Given the description of an element on the screen output the (x, y) to click on. 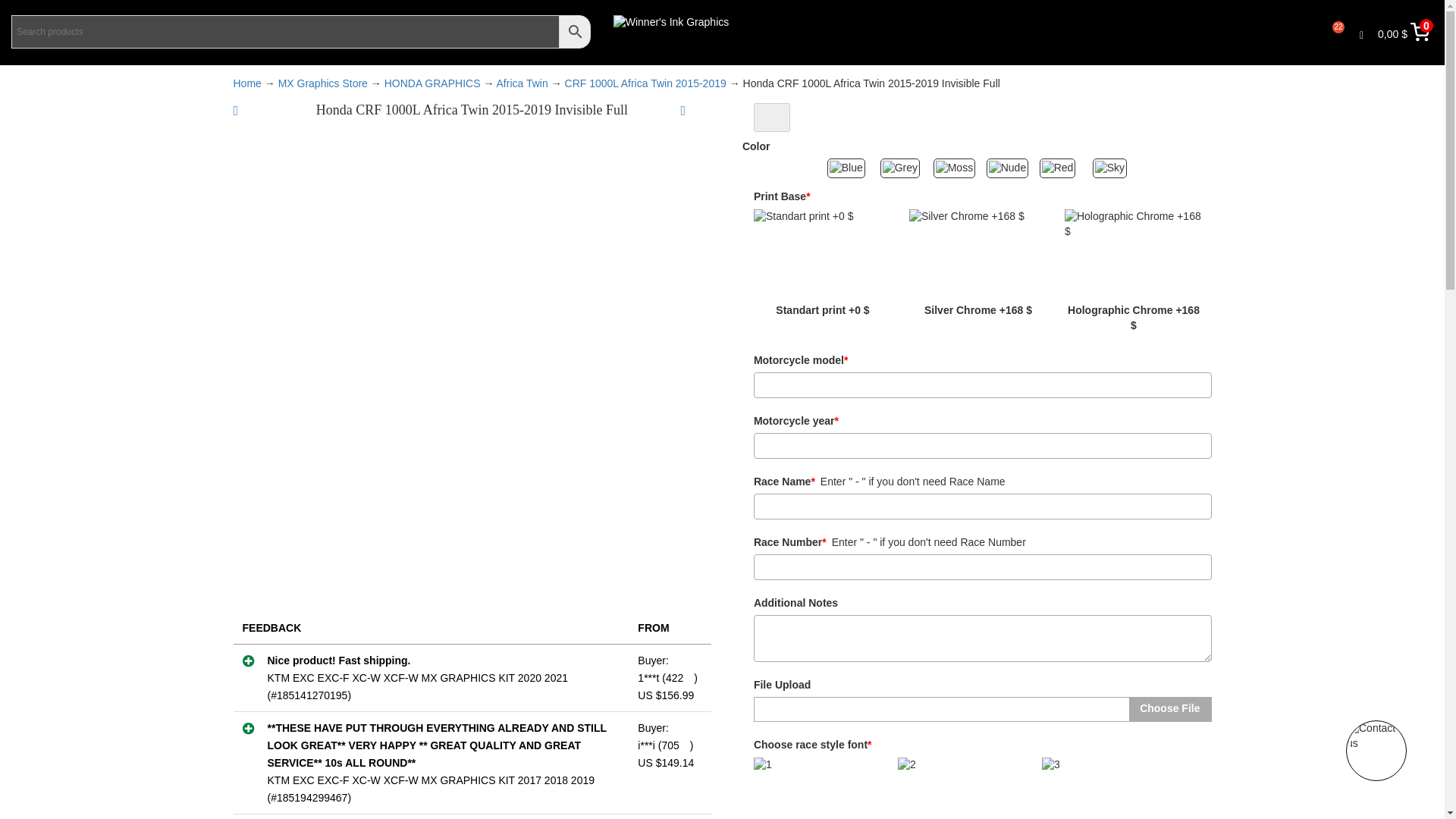
Africa Twin (522, 82)
Nude (1009, 168)
HONDA GRAPHICS (432, 82)
Grey (903, 168)
CRF 1000L Africa Twin 2015-2019 (645, 82)
Blue (849, 168)
Red (1061, 168)
Africa Twin (522, 82)
Home (247, 82)
MX Graphics Store (323, 82)
